Given the description of an element on the screen output the (x, y) to click on. 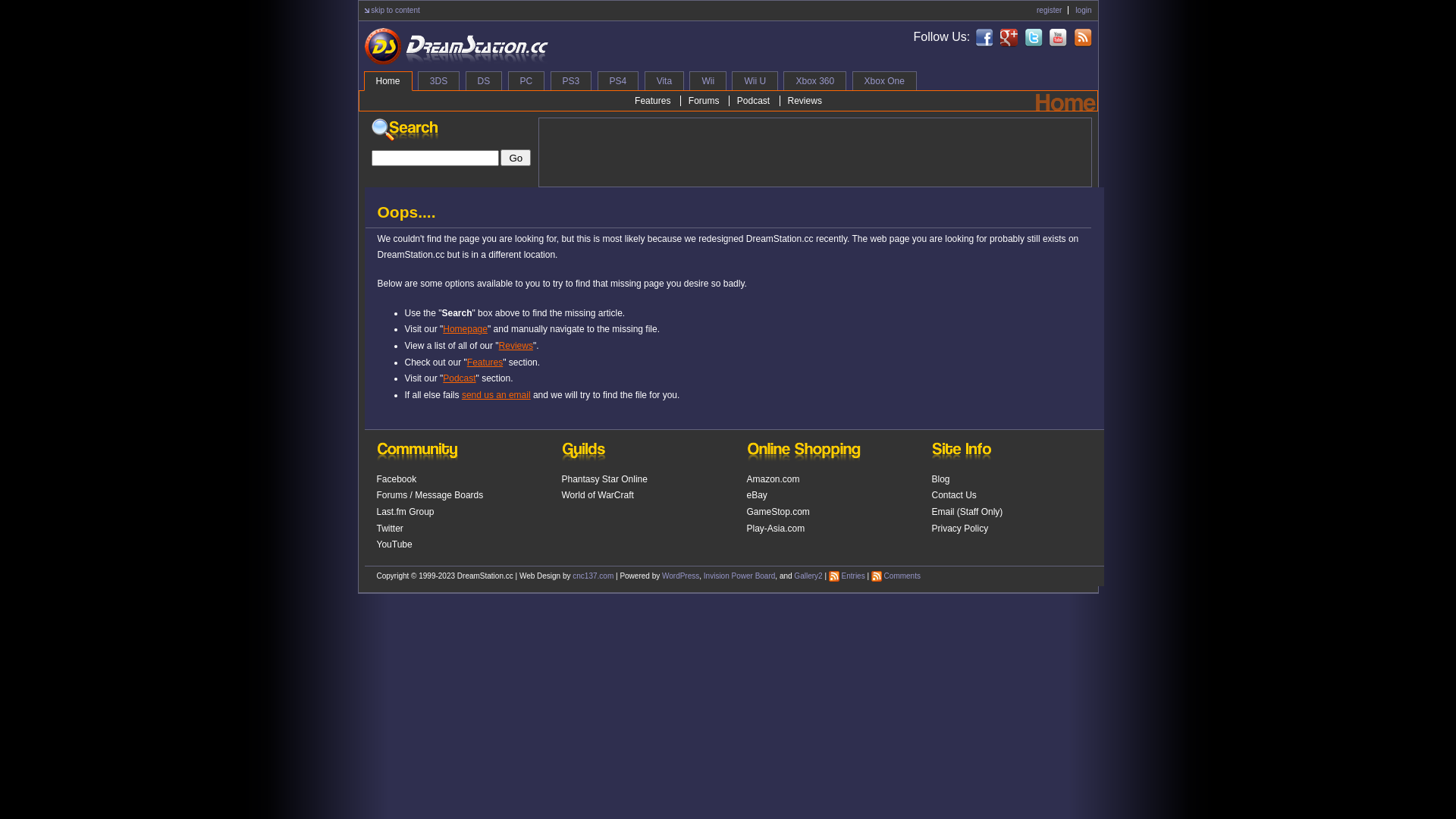
DS Element type: text (483, 80)
Podcast Element type: text (752, 100)
Phantasy Star Online Element type: text (603, 478)
GameStop.com Element type: text (777, 511)
3DS Element type: text (438, 80)
PS3 Element type: text (571, 80)
Vita Element type: text (664, 80)
PC Element type: text (526, 80)
Amazon.com Element type: text (772, 478)
Blog Element type: text (940, 478)
Play-Asia.com Element type: text (775, 528)
send us an email Element type: text (495, 394)
Home Element type: text (388, 81)
Entries Element type: text (853, 575)
Forums / Message Boards Element type: text (429, 494)
Comments Element type: text (902, 575)
Add DreamStation.cc to a Google+ Circle Element type: hover (1008, 37)
Twitter Element type: text (389, 528)
World of WarCraft Element type: text (597, 494)
eBay Element type: text (756, 494)
PS4 Element type: text (618, 80)
Wii U Element type: text (754, 80)
Reviews Element type: text (803, 100)
Invision Power Board Element type: text (739, 575)
Contact Us Element type: text (953, 494)
Guilds Element type: hover (583, 454)
login Element type: text (1083, 10)
RSS Feed Element type: hover (876, 576)
Community Element type: hover (417, 454)
Site Info Element type: hover (961, 454)
cnc137.com Element type: text (592, 575)
Online Shopping Element type: hover (803, 454)
RSS Feed Element type: hover (1082, 37)
Xbox One Element type: text (884, 80)
RSS Feed Element type: hover (833, 576)
skip to content Element type: text (394, 10)
Subscribe to DreamStation.cc on YouTube Element type: hover (1057, 37)
Facebook Element type: text (396, 478)
Podcast Element type: text (458, 378)
Xbox 360 Element type: text (814, 80)
Go Element type: text (515, 157)
Features Element type: text (484, 362)
Reviews Element type: text (515, 345)
Search Element type: hover (404, 132)
Gallery2 Element type: text (807, 575)
Homepage Element type: text (464, 328)
WordPress Element type: text (680, 575)
YouTube Element type: text (393, 544)
Forums Element type: text (703, 100)
Features Element type: text (652, 100)
Like DreamStation.cc on Facebook Element type: hover (984, 37)
Wii Element type: text (707, 80)
Last.fm Group Element type: text (404, 511)
register Element type: text (1048, 10)
Follow DreamStation.cc on Twitter Element type: hover (1033, 37)
Email Element type: text (942, 511)
Privacy Policy Element type: text (959, 528)
